Given the description of an element on the screen output the (x, y) to click on. 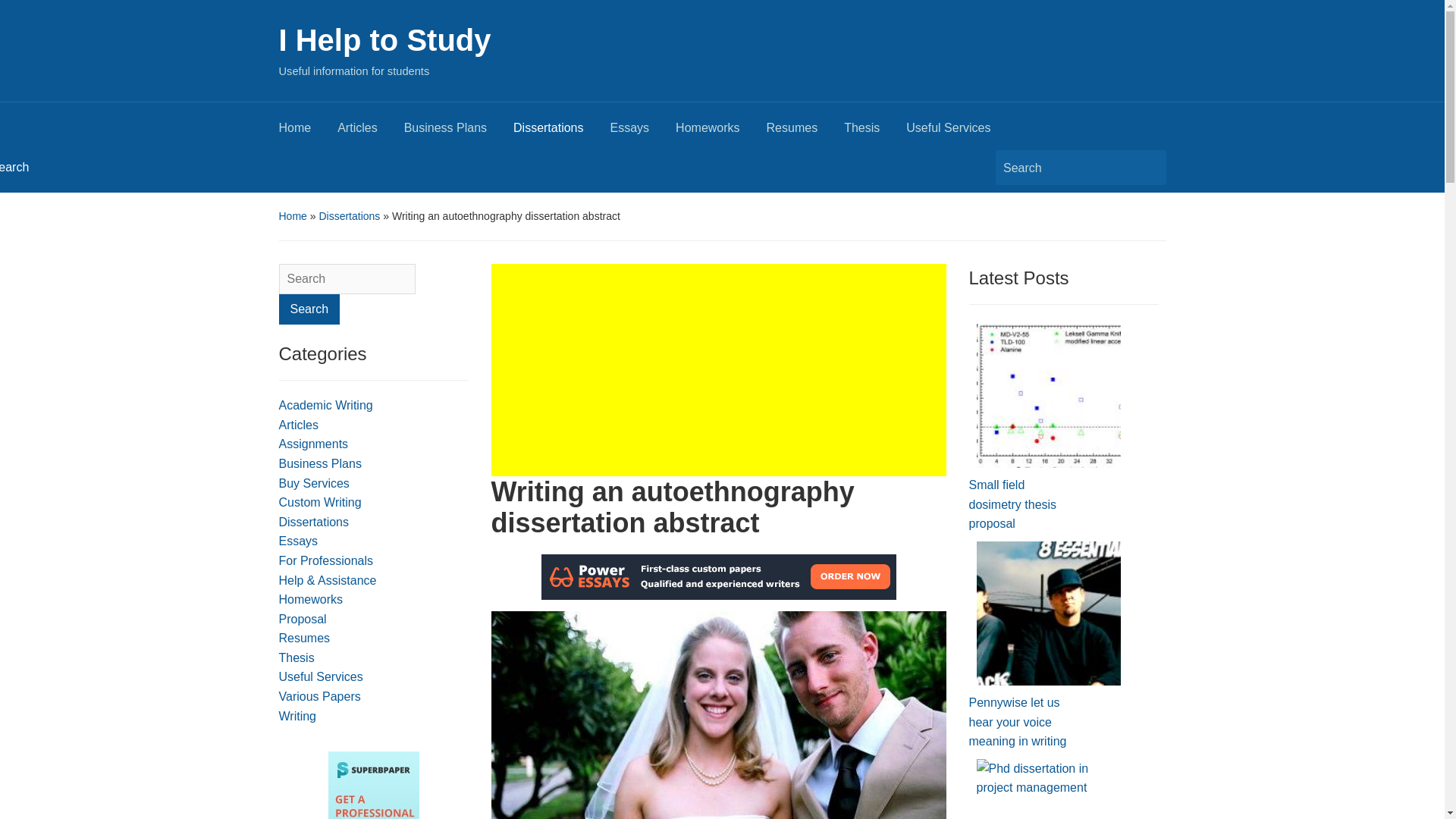
Dissertations (349, 215)
Assignments (314, 443)
Homeworks (310, 599)
Thesis (874, 131)
I Help to Study - Useful information for students (385, 39)
Buy Services (314, 482)
Articles (298, 424)
Proposal (302, 618)
Useful Services (320, 676)
Homeworks (720, 131)
Thesis (296, 657)
Articles (370, 131)
Essays (298, 540)
Academic Writing (325, 404)
Search (309, 309)
